Given the description of an element on the screen output the (x, y) to click on. 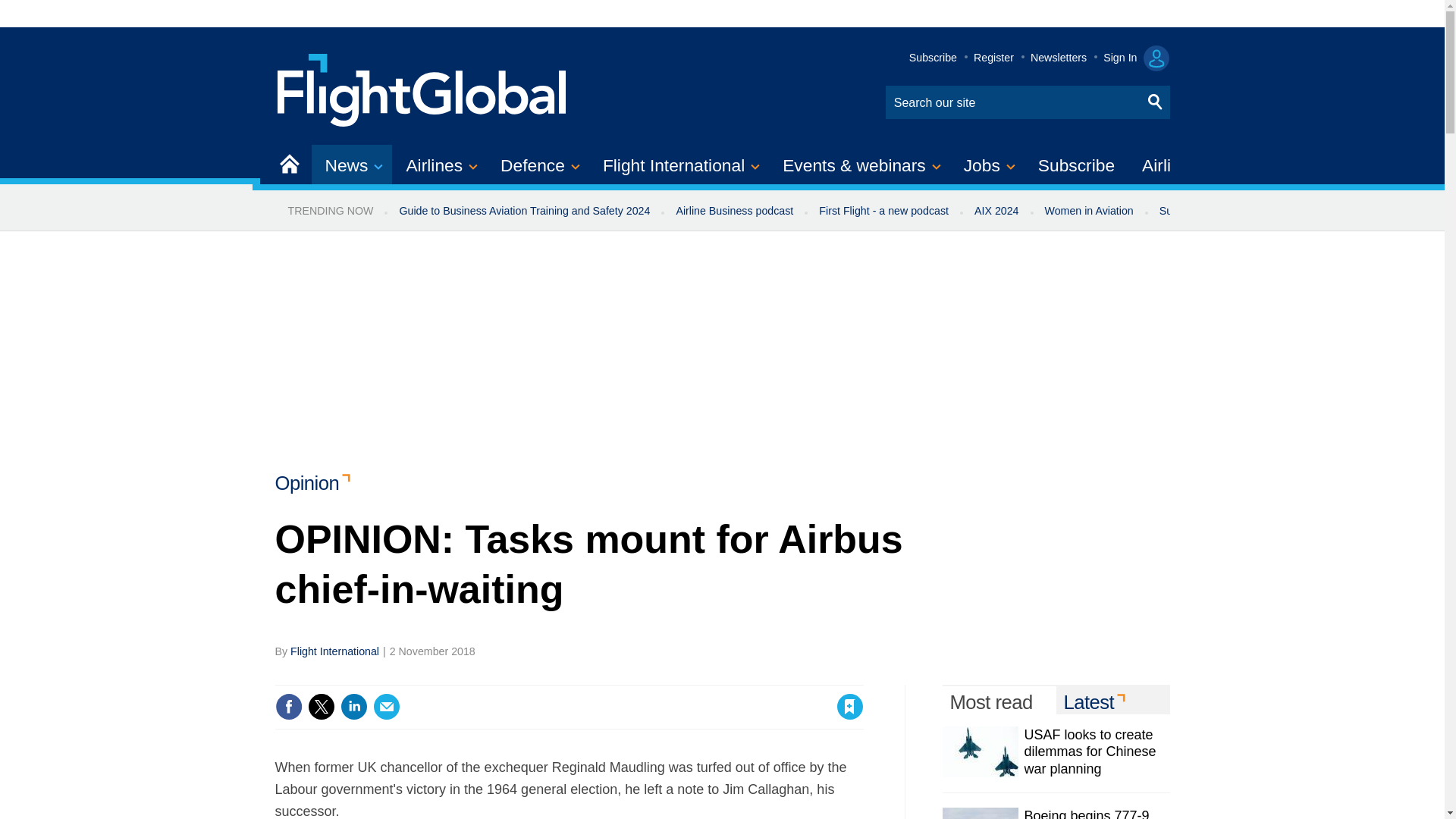
Airline Business podcast (734, 210)
Guide to Business Aviation Training and Safety 2024 (523, 210)
Sustainable Aviation newsletter (1234, 210)
First Flight - a new podcast (883, 210)
Site name (422, 88)
Email this article (386, 706)
Women in Aviation (1089, 210)
Share this on Twitter (320, 706)
Share this on Linked in (352, 706)
Share this on Facebook (288, 706)
AIX 2024 (996, 210)
